Given the description of an element on the screen output the (x, y) to click on. 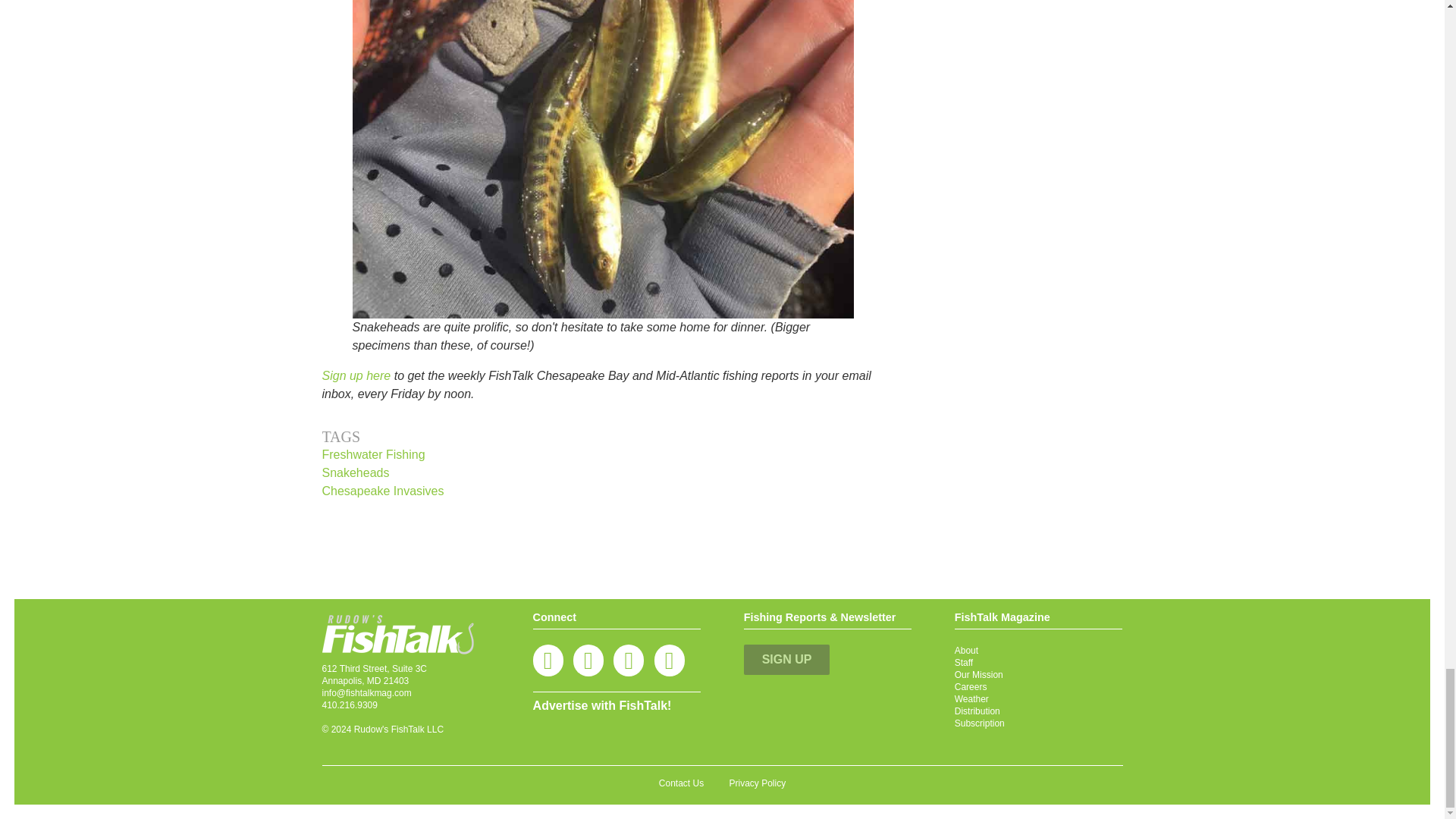
Sign up here (355, 375)
